Given the description of an element on the screen output the (x, y) to click on. 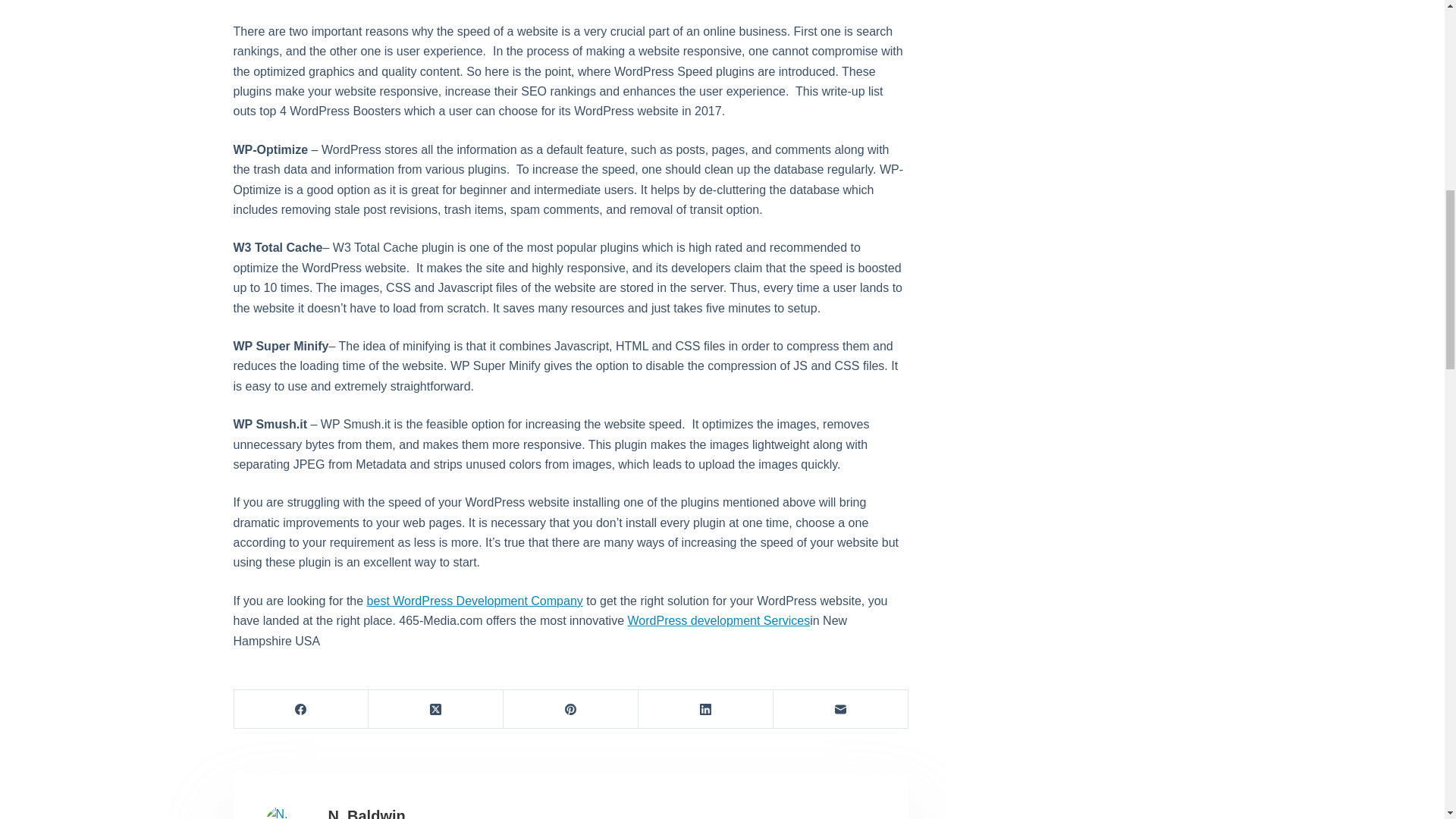
best WordPress Development Company (474, 600)
WordPress development Services (718, 620)
